Given the description of an element on the screen output the (x, y) to click on. 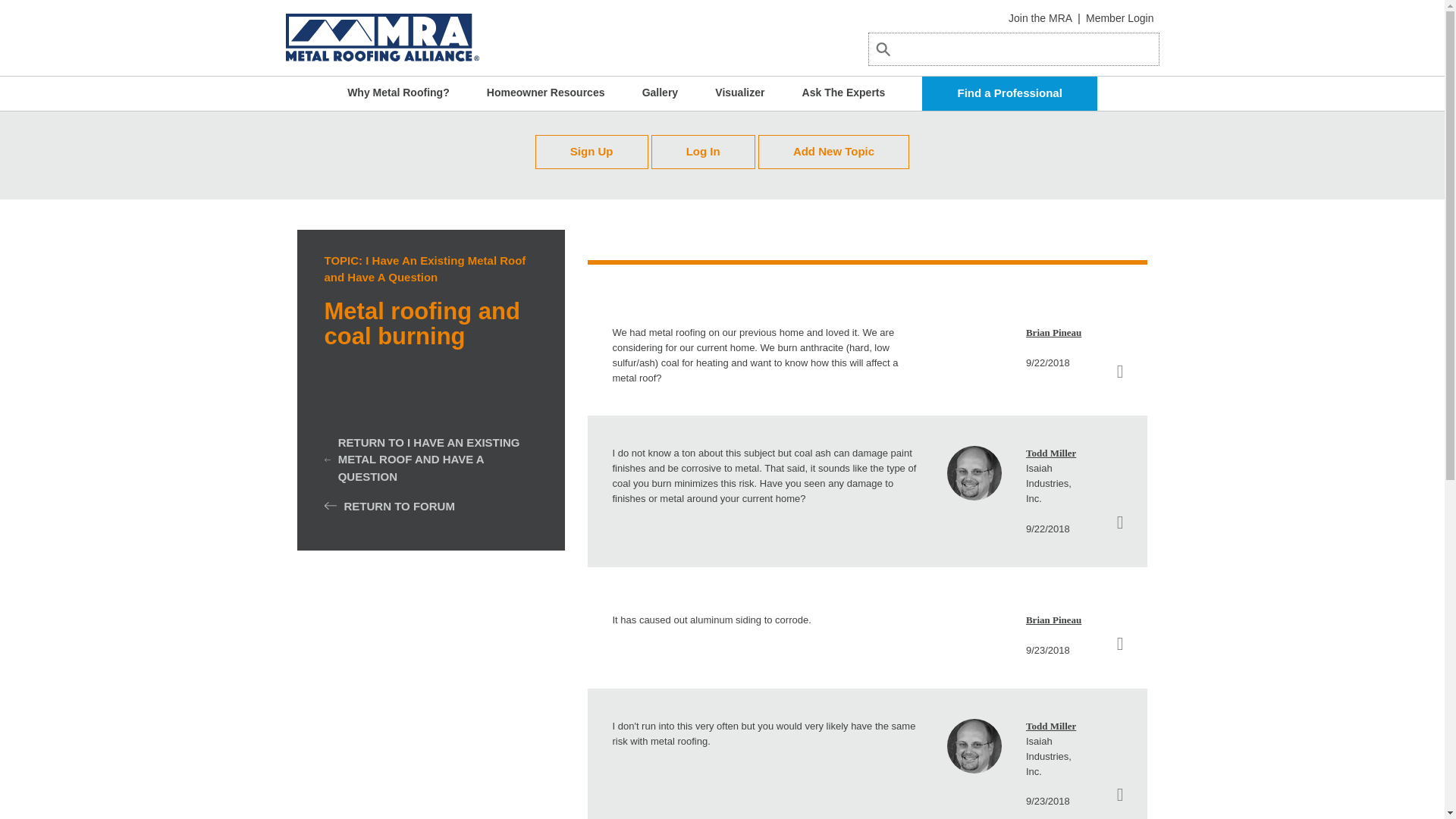
Sept. 22, 2018, 1:48 p.m. (1048, 362)
Sept. 22, 2018, 2:03 p.m. (1048, 528)
Visualizer (739, 92)
Sept. 23, 2018, 11:15 a.m. (1048, 650)
Gallery (660, 92)
Join the MRA (1040, 18)
Search (904, 67)
Ask The Experts (843, 92)
Member Login (1120, 18)
Find a Professional (1008, 93)
Homeowner Resources (545, 92)
Sept. 23, 2018, 11:19 a.m. (1048, 800)
Why Metal Roofing? (398, 92)
